Given the description of an element on the screen output the (x, y) to click on. 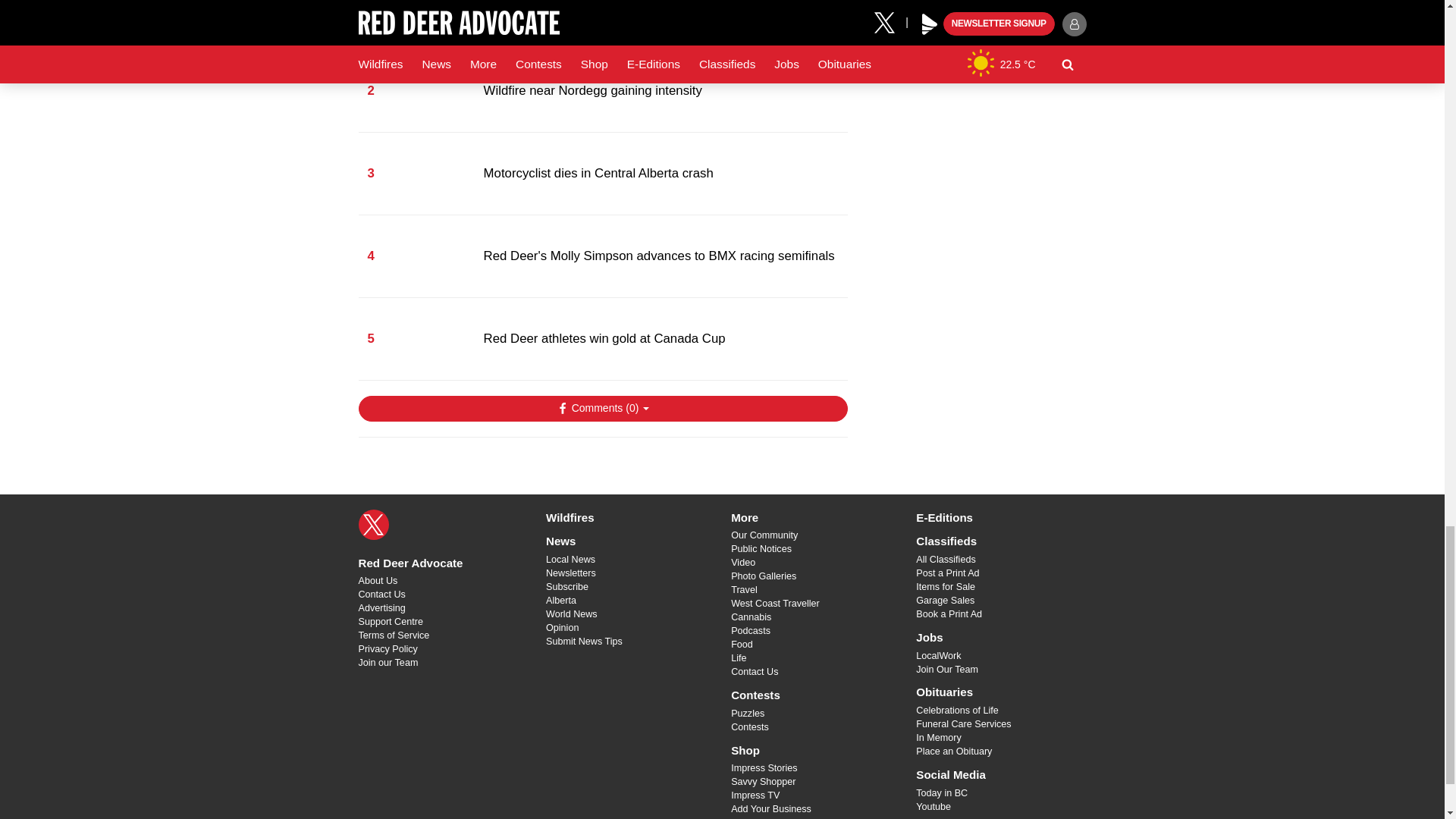
X (373, 524)
Show Comments (602, 408)
